Given the description of an element on the screen output the (x, y) to click on. 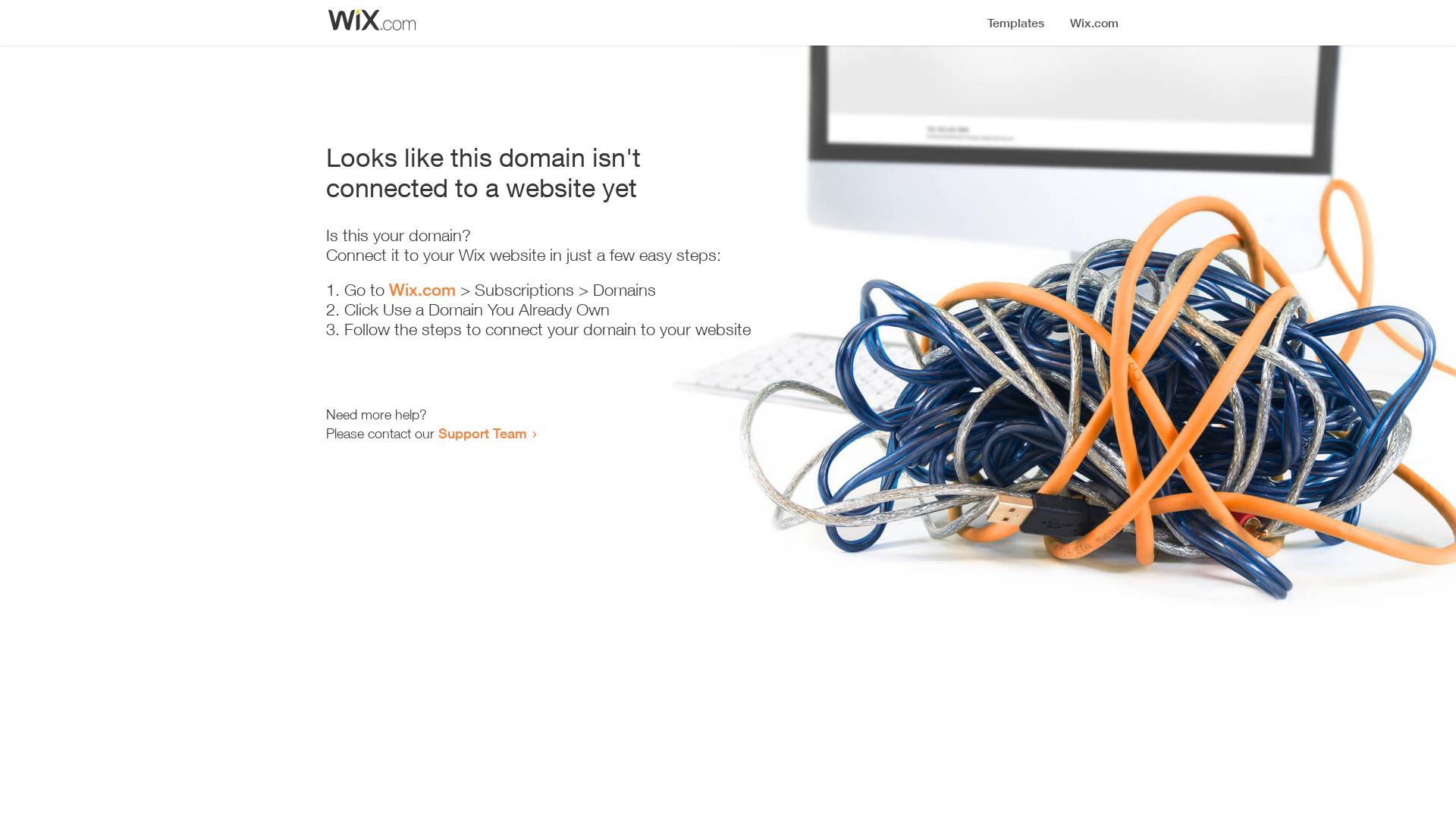
Support Team Element type: text (482, 432)
Wix.com Element type: text (422, 289)
